Given the description of an element on the screen output the (x, y) to click on. 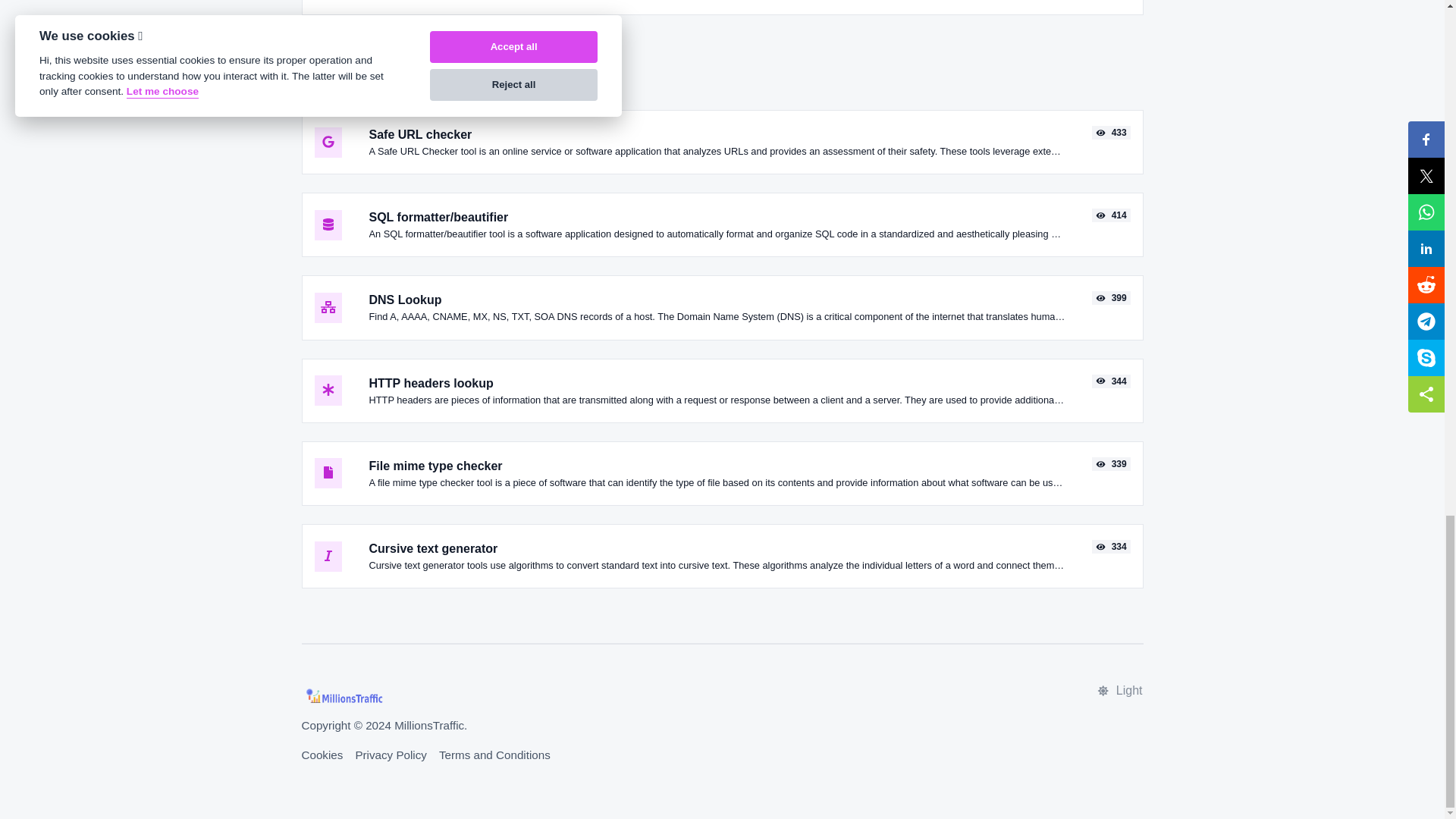
Light (1119, 690)
Cookies (322, 754)
Privacy Policy (390, 754)
Terms and Conditions (494, 754)
